Given the description of an element on the screen output the (x, y) to click on. 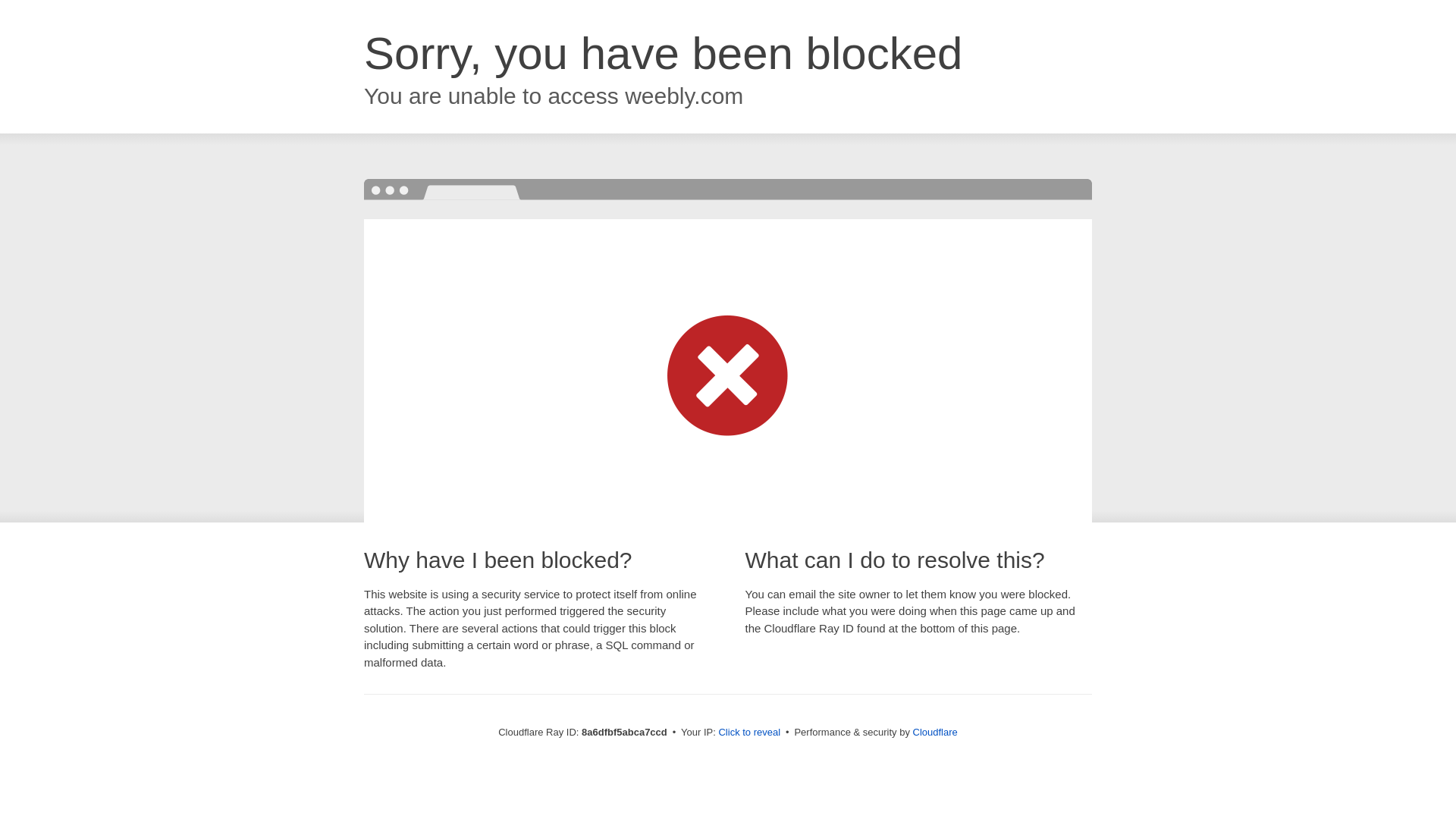
Click to reveal (748, 732)
Cloudflare (935, 731)
